Given the description of an element on the screen output the (x, y) to click on. 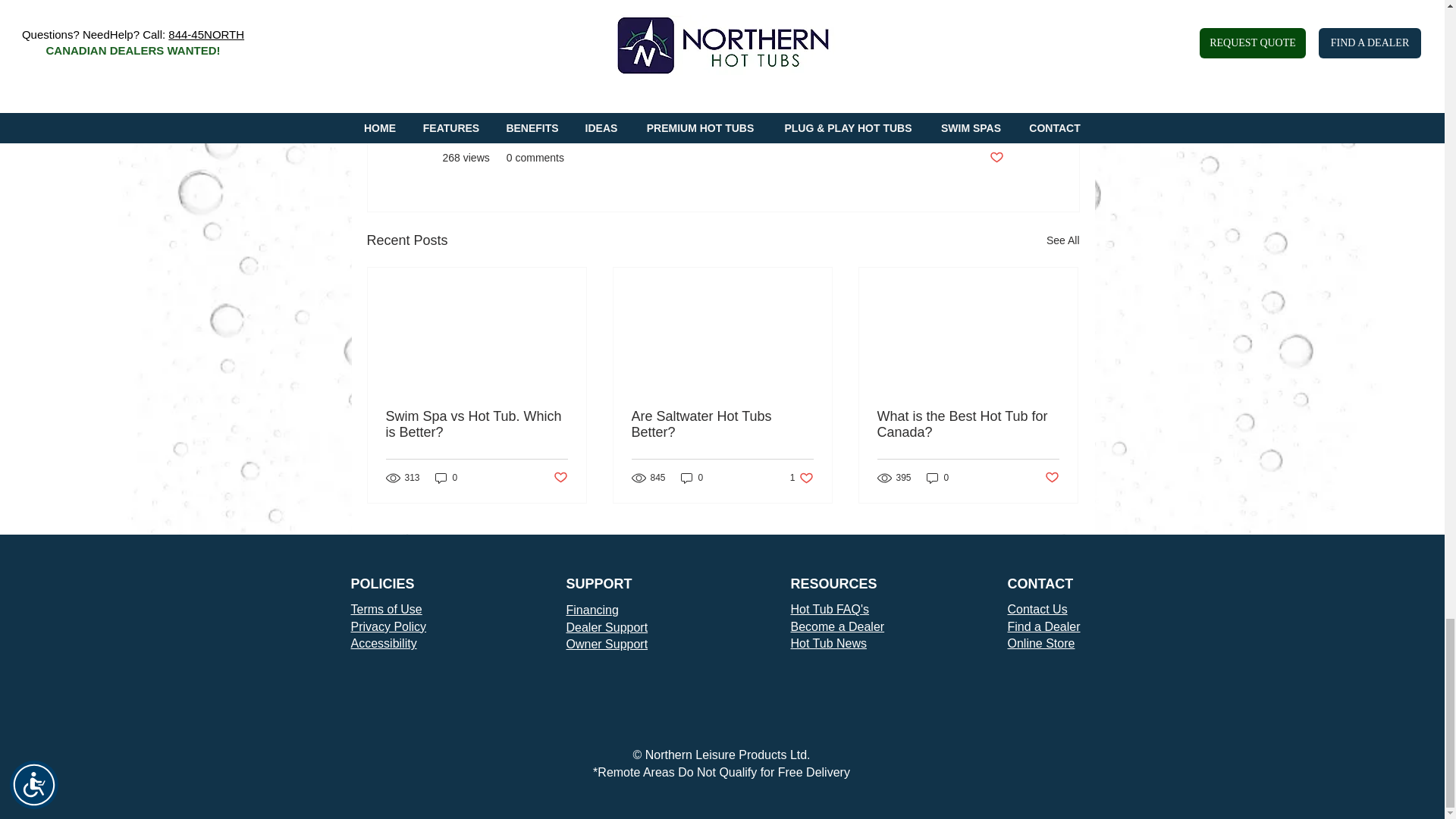
See All (1063, 240)
0 (446, 477)
Are Saltwater Hot Tubs Better? (721, 424)
Swim Spa vs Hot Tub. Which is Better? (476, 424)
What is the Best Hot Tub for Canada? (967, 424)
0 (937, 477)
Terms of Use (386, 608)
Privacy Policy (388, 626)
Post not marked as liked (1052, 478)
Post not marked as liked (560, 478)
0 (691, 477)
Post not marked as liked (801, 477)
